Given the description of an element on the screen output the (x, y) to click on. 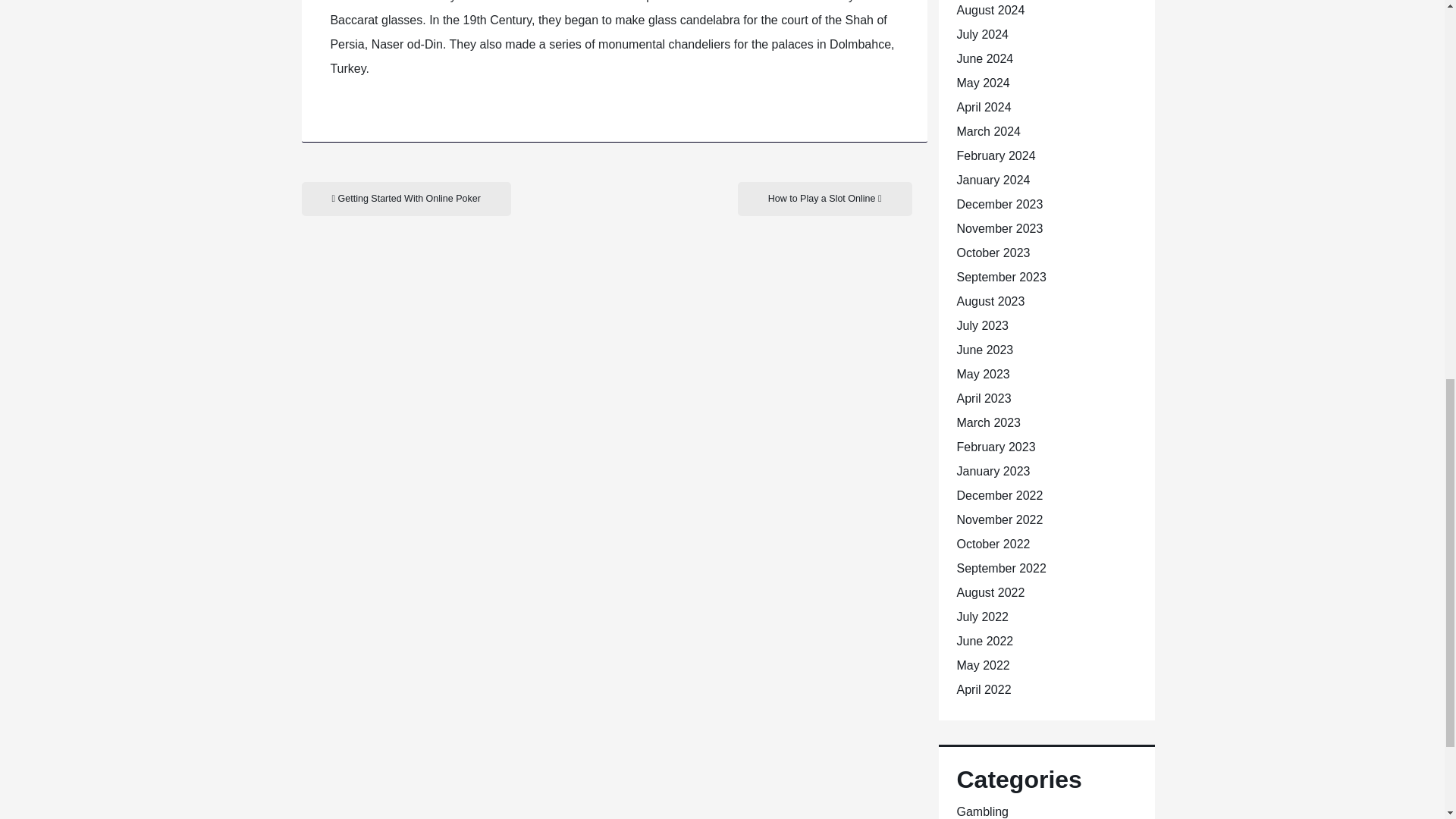
October 2023 (993, 252)
February 2023 (995, 446)
August 2024 (990, 10)
Getting Started With Online Poker (406, 198)
October 2022 (993, 543)
February 2024 (995, 155)
May 2023 (983, 373)
December 2022 (999, 495)
August 2022 (990, 592)
November 2023 (999, 228)
